Given the description of an element on the screen output the (x, y) to click on. 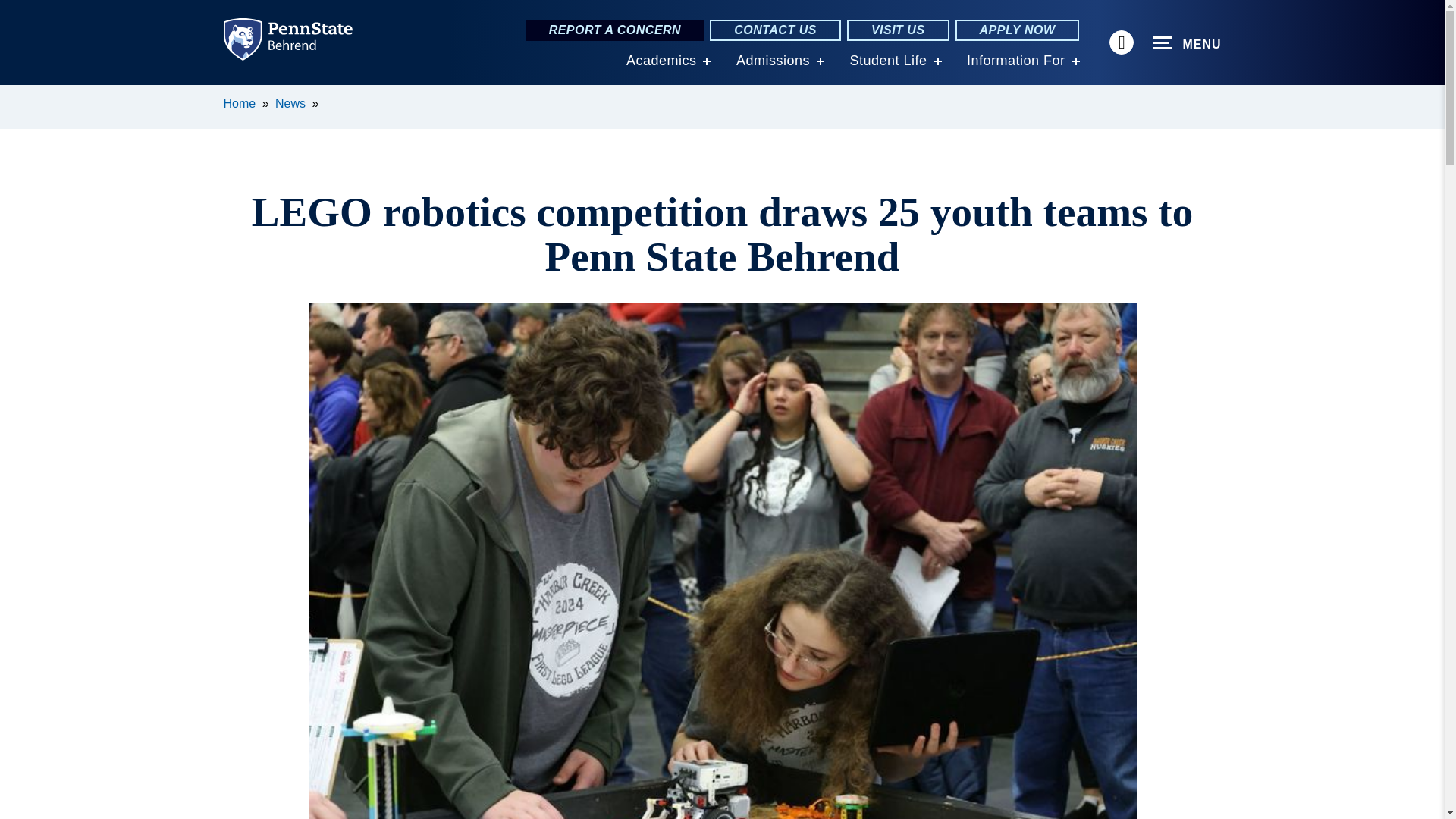
REPORT A CONCERN (614, 29)
Student Life (887, 60)
VISIT US (898, 29)
Admissions (772, 60)
APPLY NOW (1017, 29)
CONTACT US (775, 29)
SKIP TO MAIN CONTENT (19, 95)
MENU (1187, 43)
Academics (661, 60)
